Given the description of an element on the screen output the (x, y) to click on. 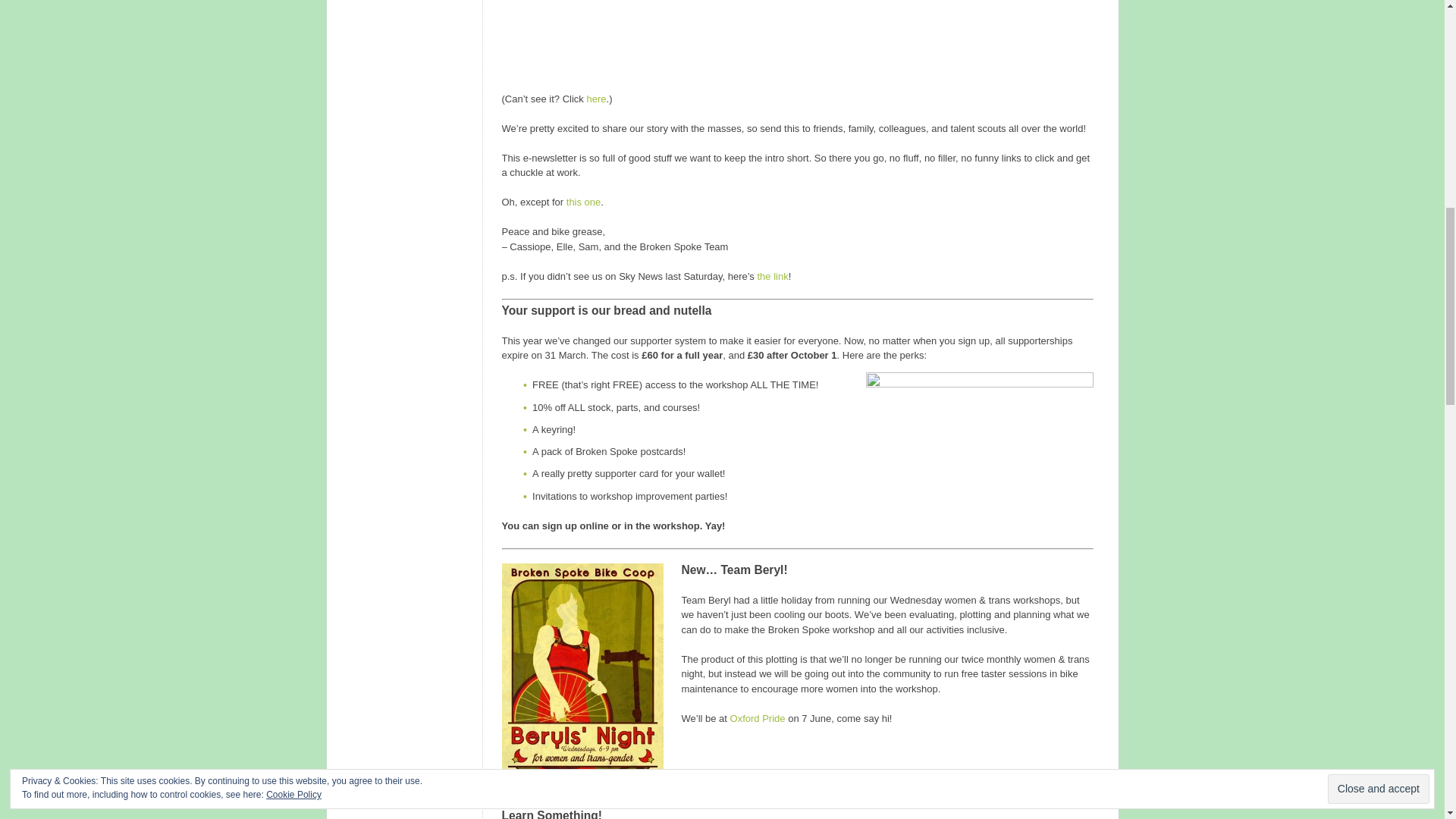
Oxford Pride (758, 717)
here (595, 98)
the link (772, 276)
this one (583, 202)
